Given the description of an element on the screen output the (x, y) to click on. 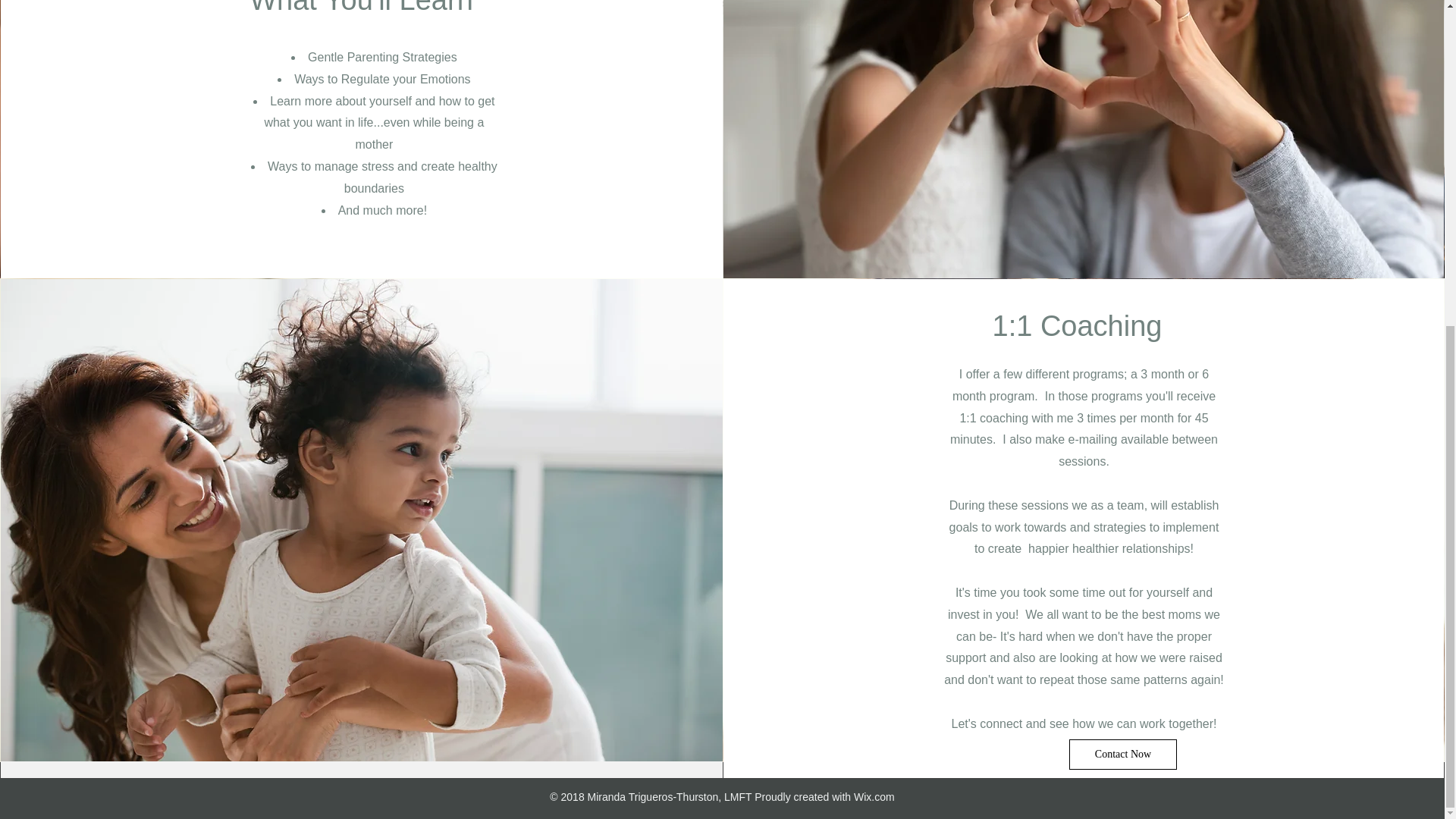
Proudly created with Wix.com (823, 796)
Contact Now (1122, 753)
